Given the description of an element on the screen output the (x, y) to click on. 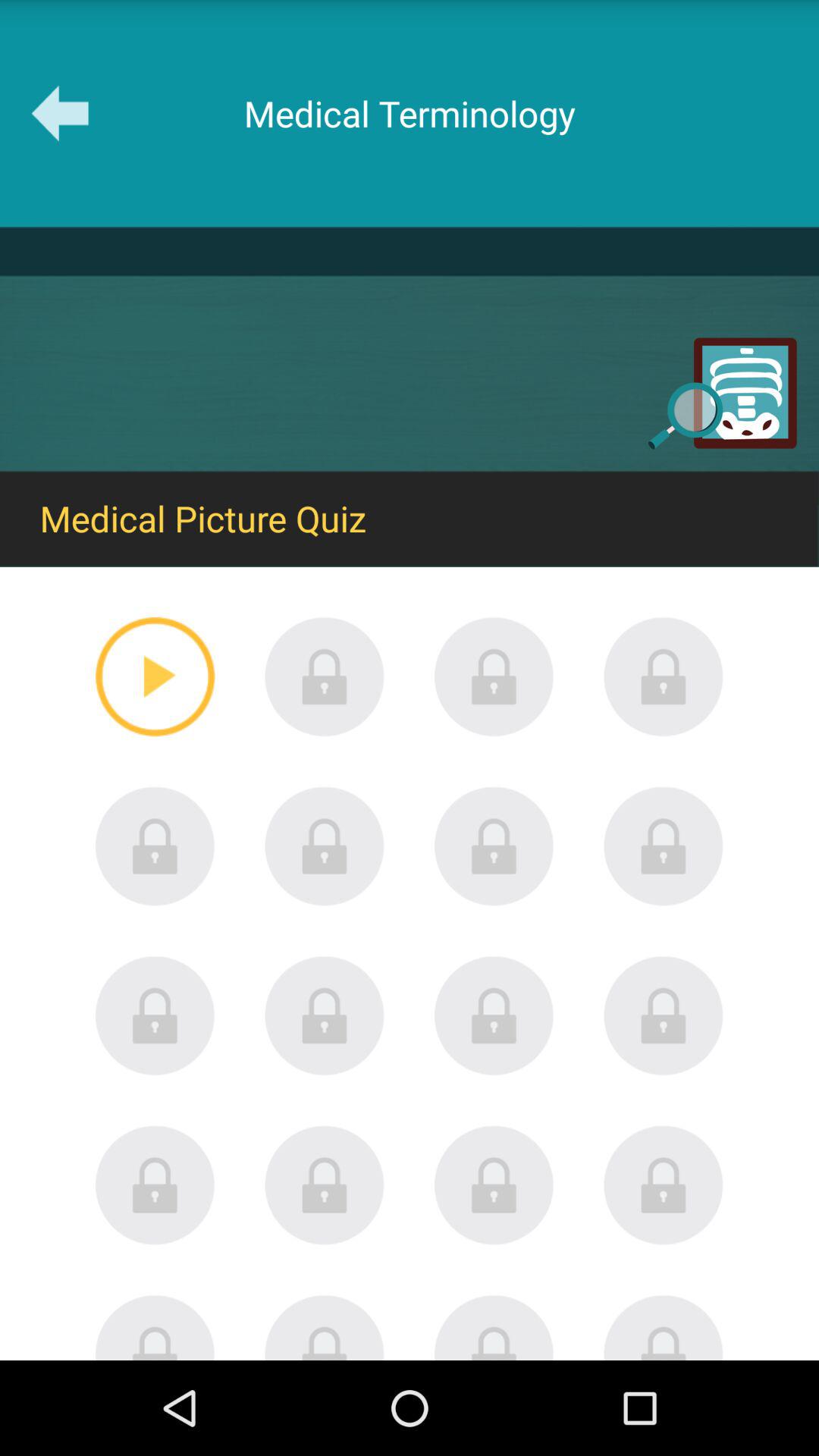
locked quiz (663, 1015)
